Given the description of an element on the screen output the (x, y) to click on. 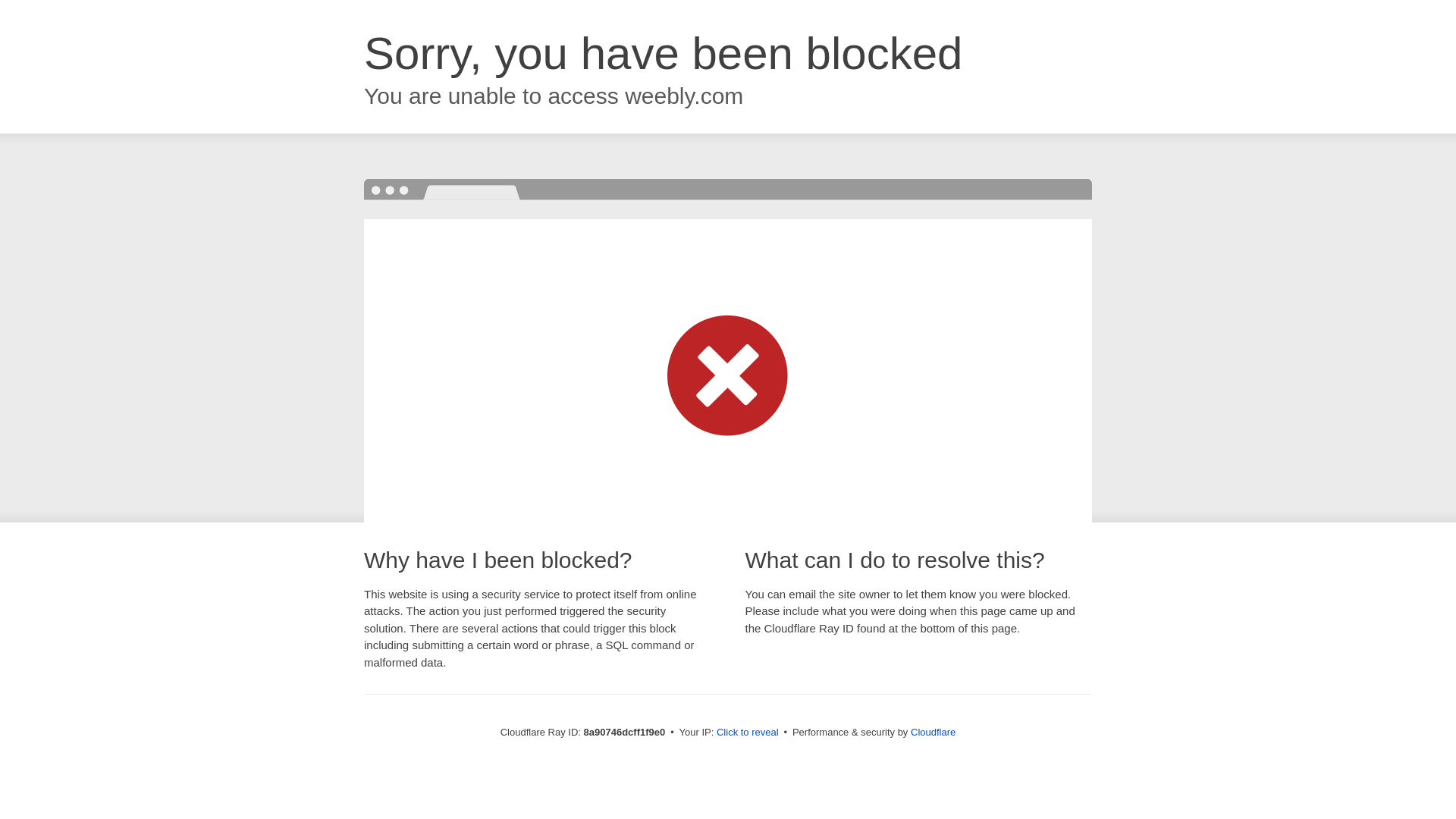
Cloudflare (933, 731)
Click to reveal (747, 732)
